Given the description of an element on the screen output the (x, y) to click on. 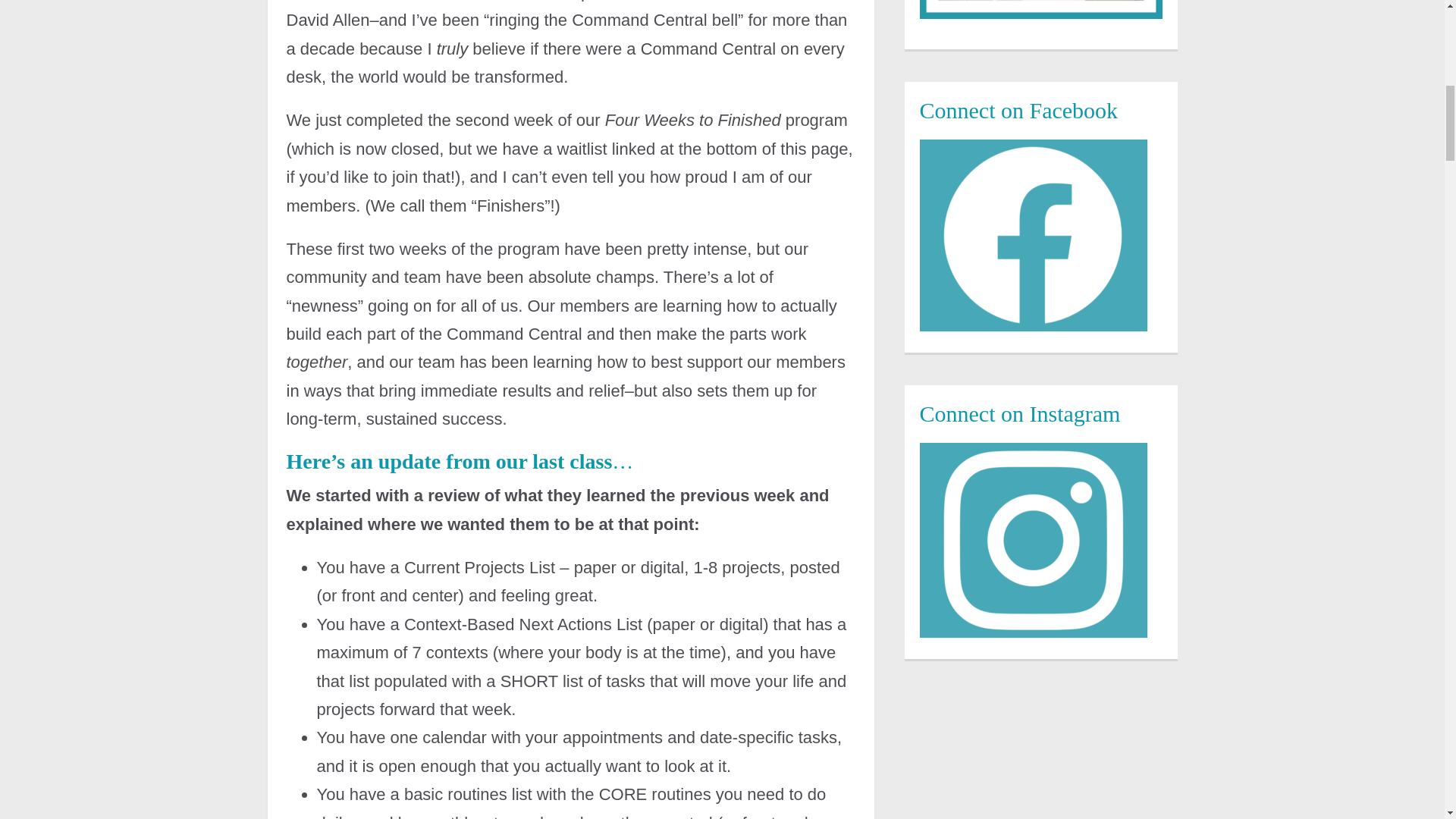
Connect on Instagram (1032, 540)
